Given the description of an element on the screen output the (x, y) to click on. 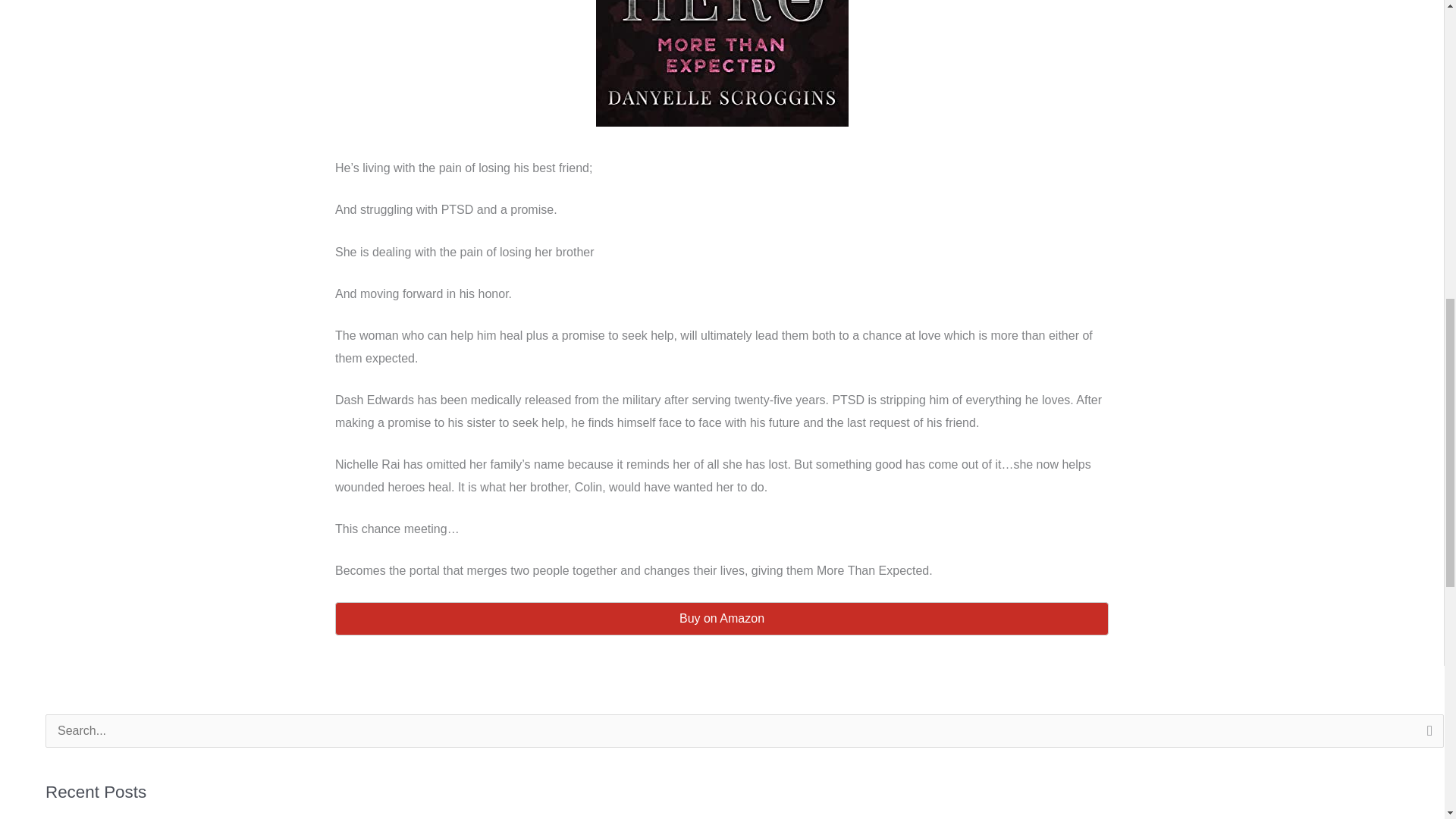
More-Than-Expected (721, 63)
Buy on Amazon (721, 618)
